Given the description of an element on the screen output the (x, y) to click on. 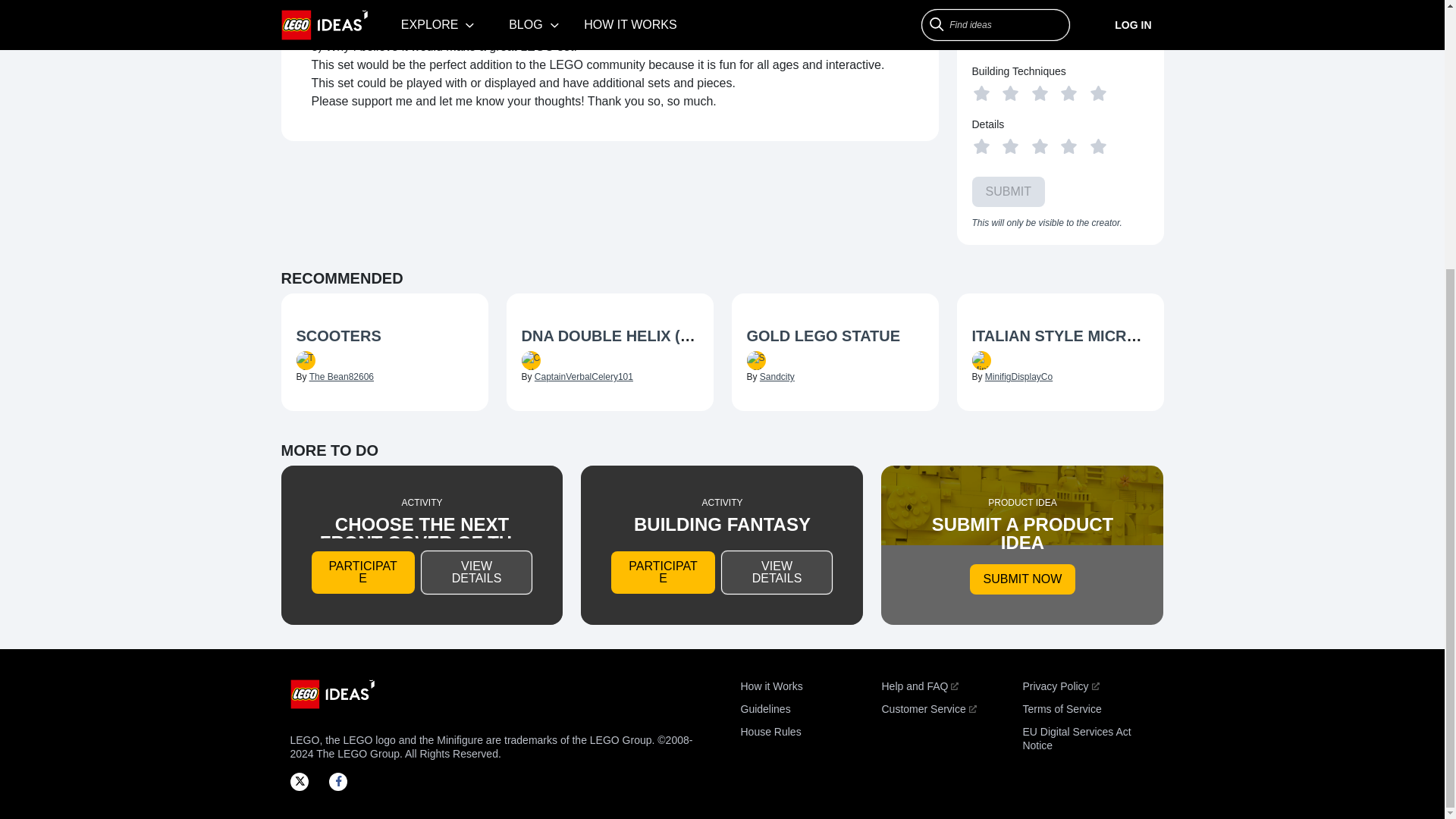
Gold Lego Statue (834, 337)
SCOOTERS (337, 335)
GOLD LEGO STATUE (822, 335)
CaptainVerbalCelery101 (583, 376)
Italian Style Micro Pizzeria (1060, 337)
Facebook (342, 781)
Scooters (383, 337)
SUBMIT (1008, 191)
The Bean82606 (341, 376)
X (303, 781)
